Given the description of an element on the screen output the (x, y) to click on. 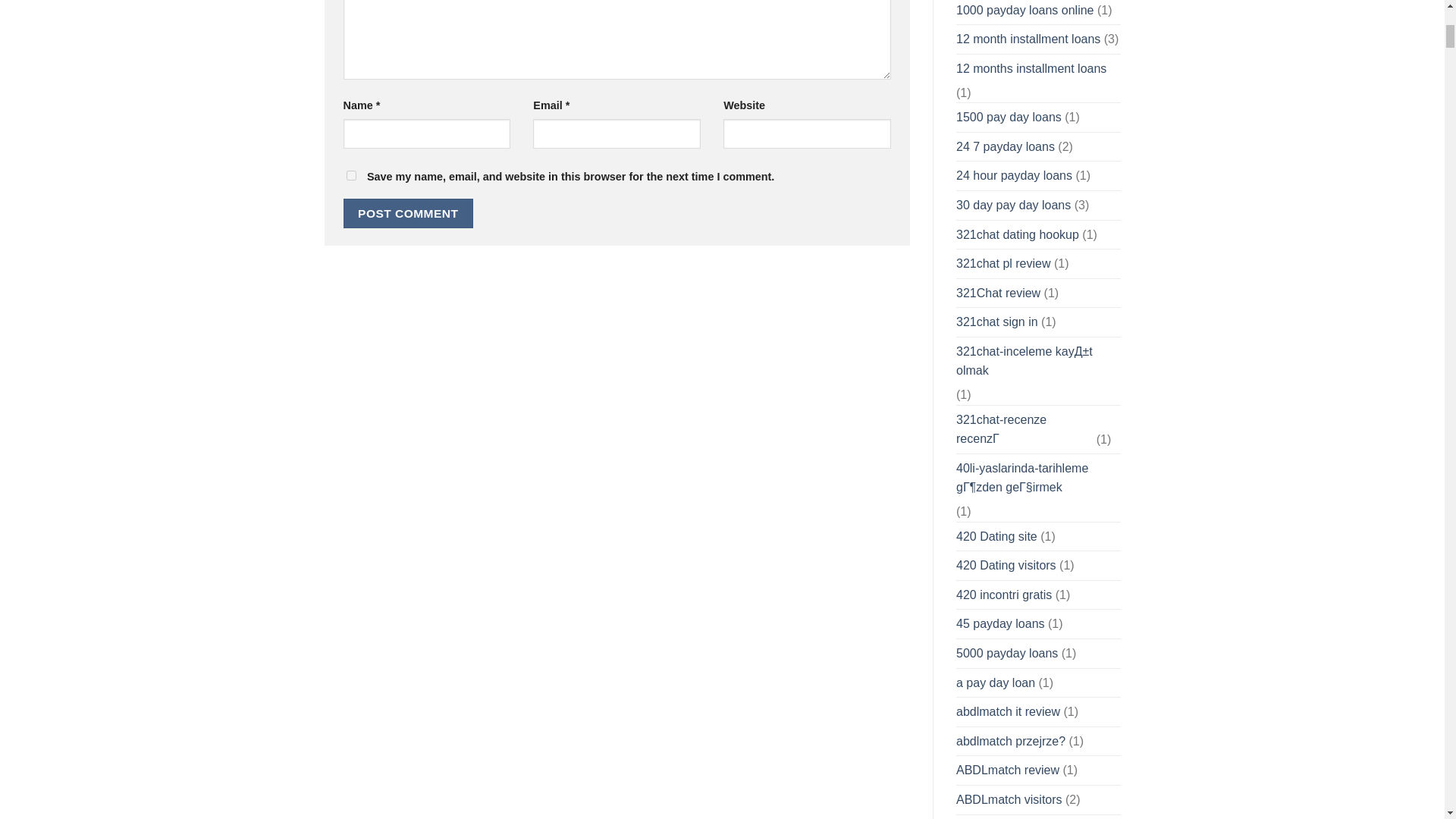
yes (350, 175)
Post Comment (407, 213)
Post Comment (407, 213)
